Given the description of an element on the screen output the (x, y) to click on. 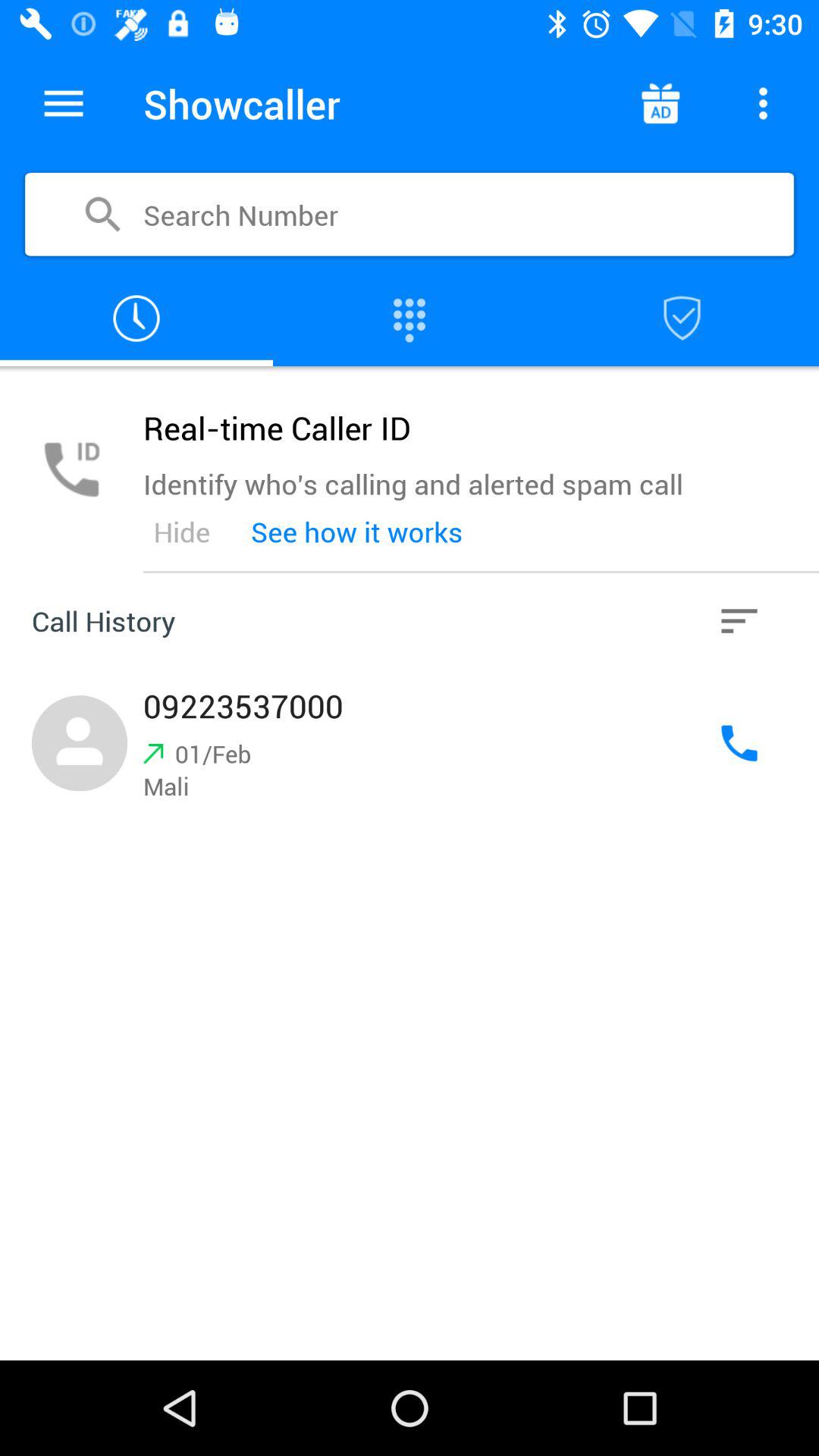
call history (136, 318)
